Given the description of an element on the screen output the (x, y) to click on. 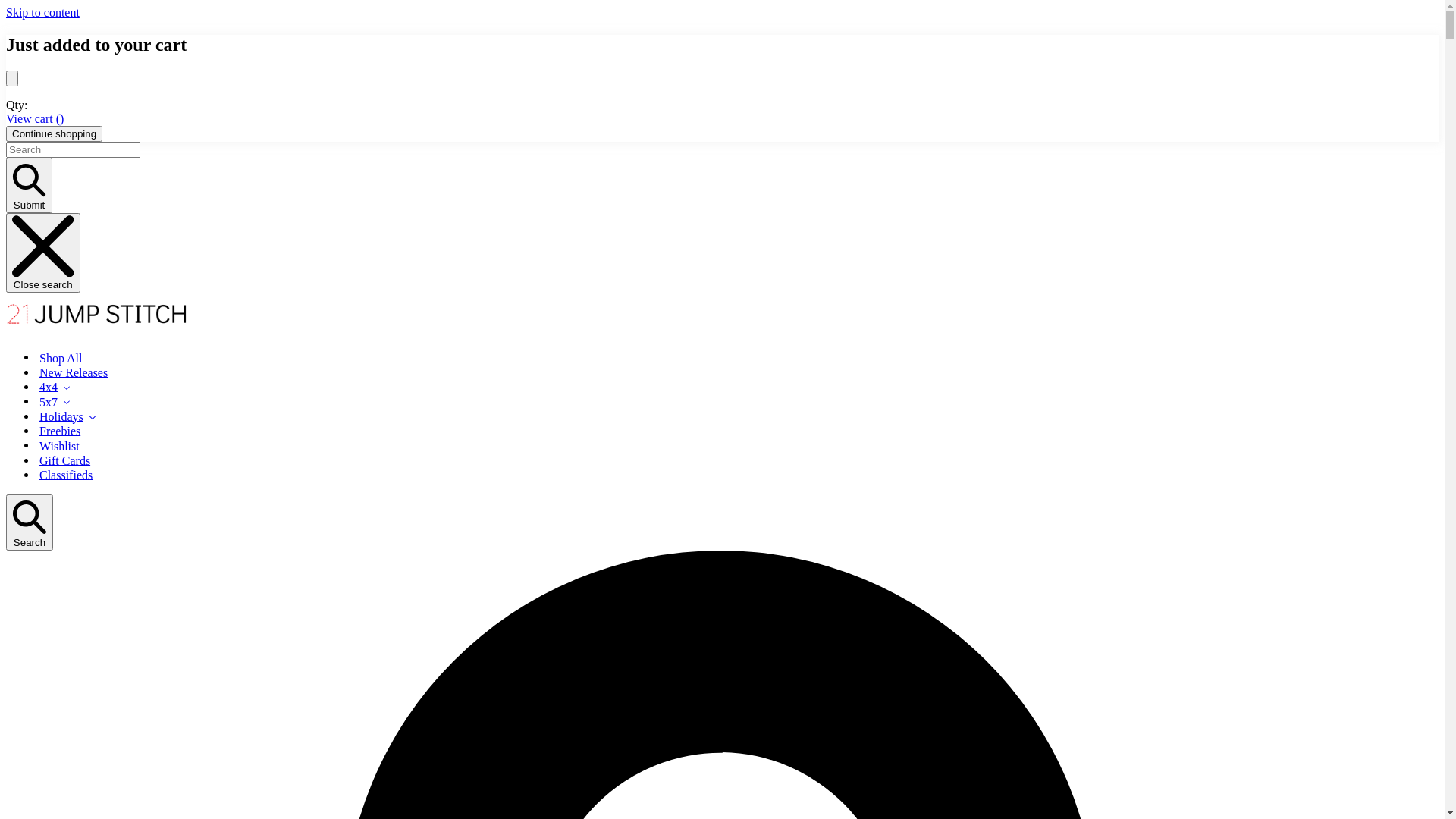
Freebies Element type: text (58, 429)
Submit Element type: text (29, 185)
Skip to content Element type: text (42, 12)
Gift Cards Element type: text (63, 459)
5x7 Element type: text (55, 400)
Wishlist Element type: text (58, 444)
4x4 Element type: text (55, 385)
Close search Element type: text (43, 253)
New Releases Element type: text (72, 371)
Holidays Element type: text (68, 415)
Search Element type: text (29, 522)
Classifieds Element type: text (65, 473)
Shop All Element type: text (59, 356)
Continue shopping Element type: text (54, 133)
View cart () Element type: text (34, 118)
